Given the description of an element on the screen output the (x, y) to click on. 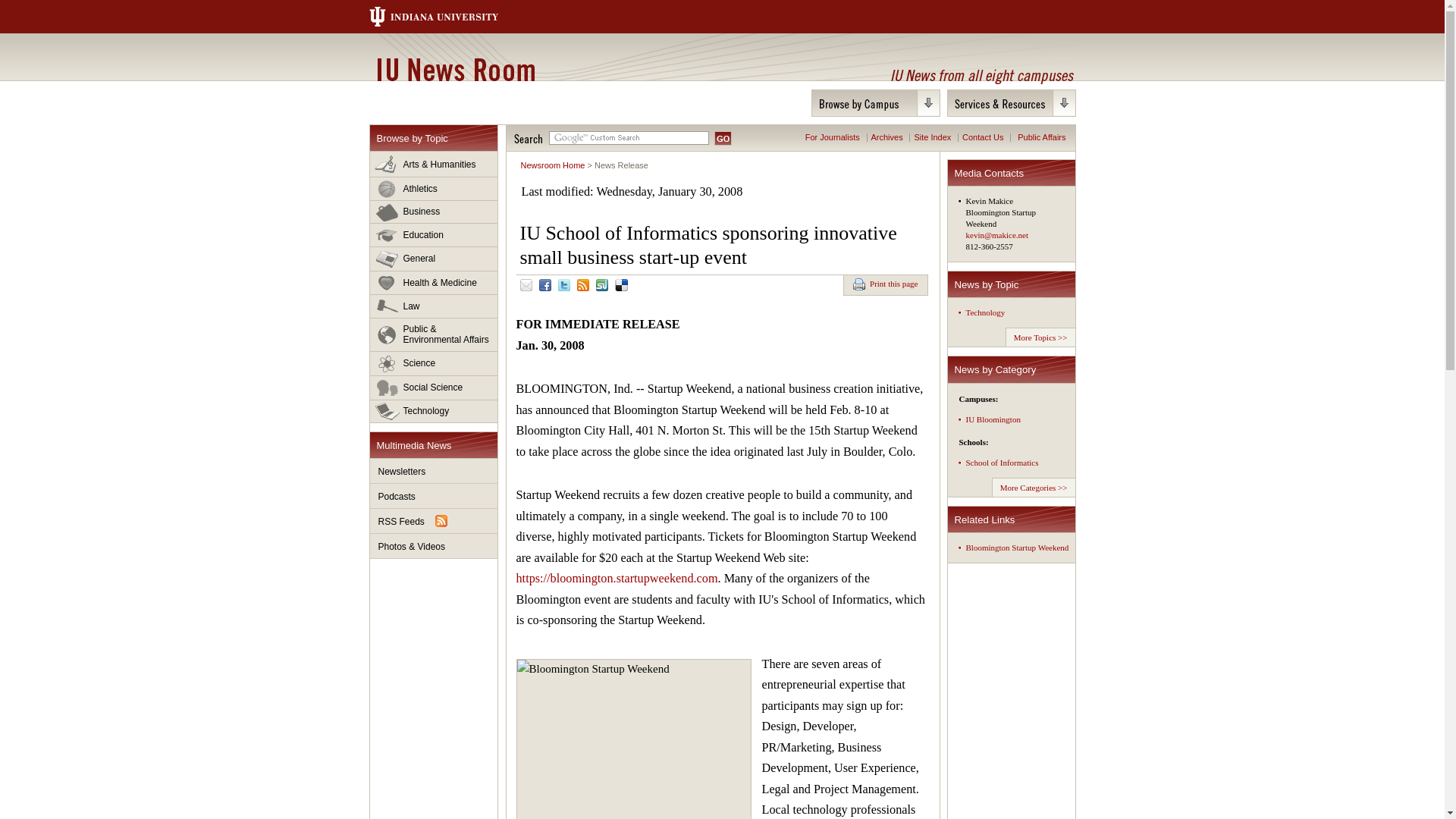
Athletics (433, 188)
Science (433, 363)
Law (433, 306)
IU News Room (455, 69)
Podcasts (433, 496)
General (433, 259)
Technology (433, 411)
Education (433, 235)
Newsletters (433, 471)
IU News Room (455, 69)
